Given the description of an element on the screen output the (x, y) to click on. 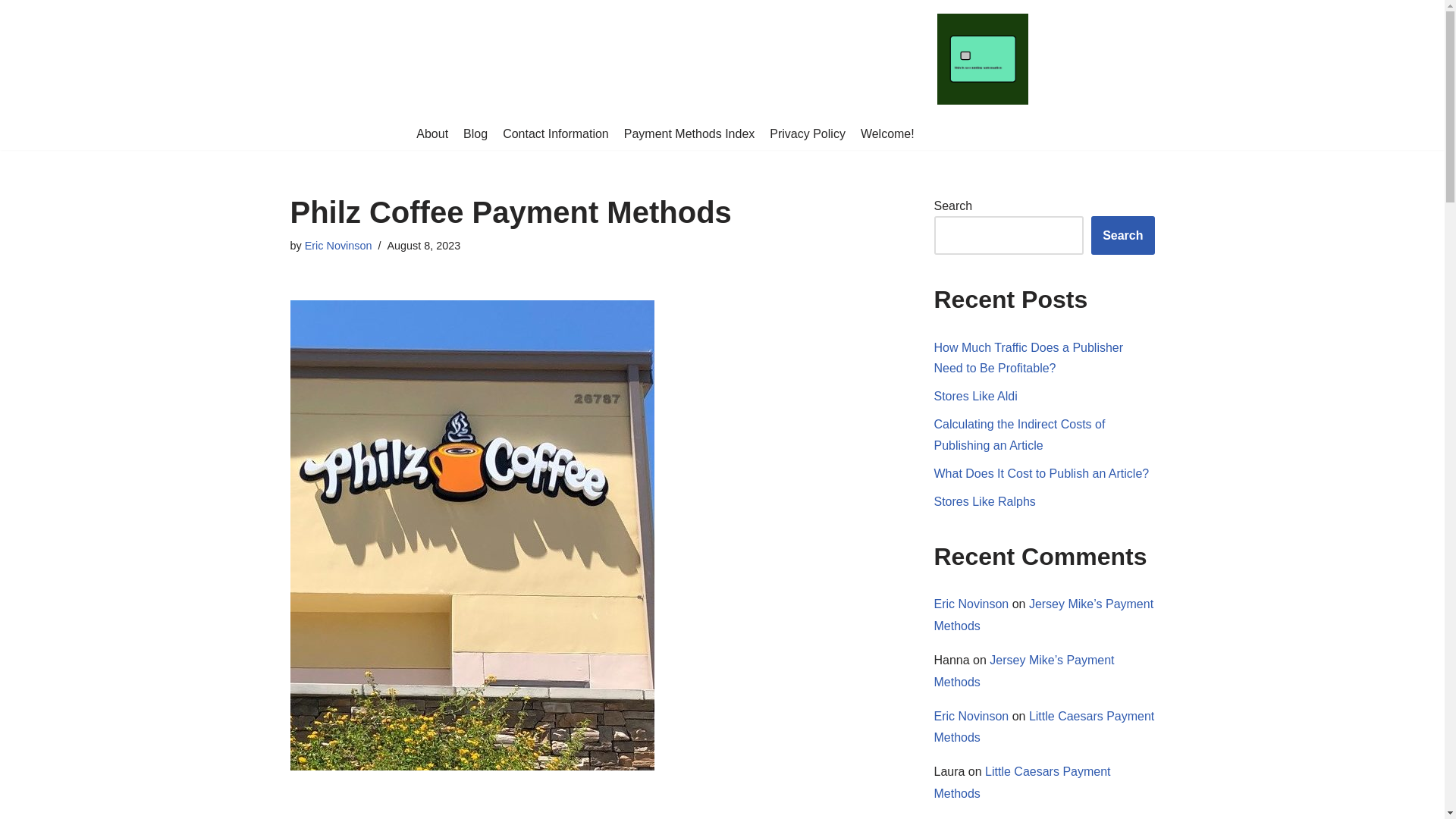
Stores Like Aldi (975, 395)
Privacy Policy (807, 134)
Eric Novinson (971, 603)
Eric Novinson (338, 245)
Welcome! (887, 134)
Stores Like Ralphs (984, 501)
How Much Traffic Does a Publisher Need to Be Profitable? (1029, 357)
Little Caesars Payment Methods (1022, 782)
Search (1122, 235)
Little Caesars Payment Methods (1044, 727)
